Given the description of an element on the screen output the (x, y) to click on. 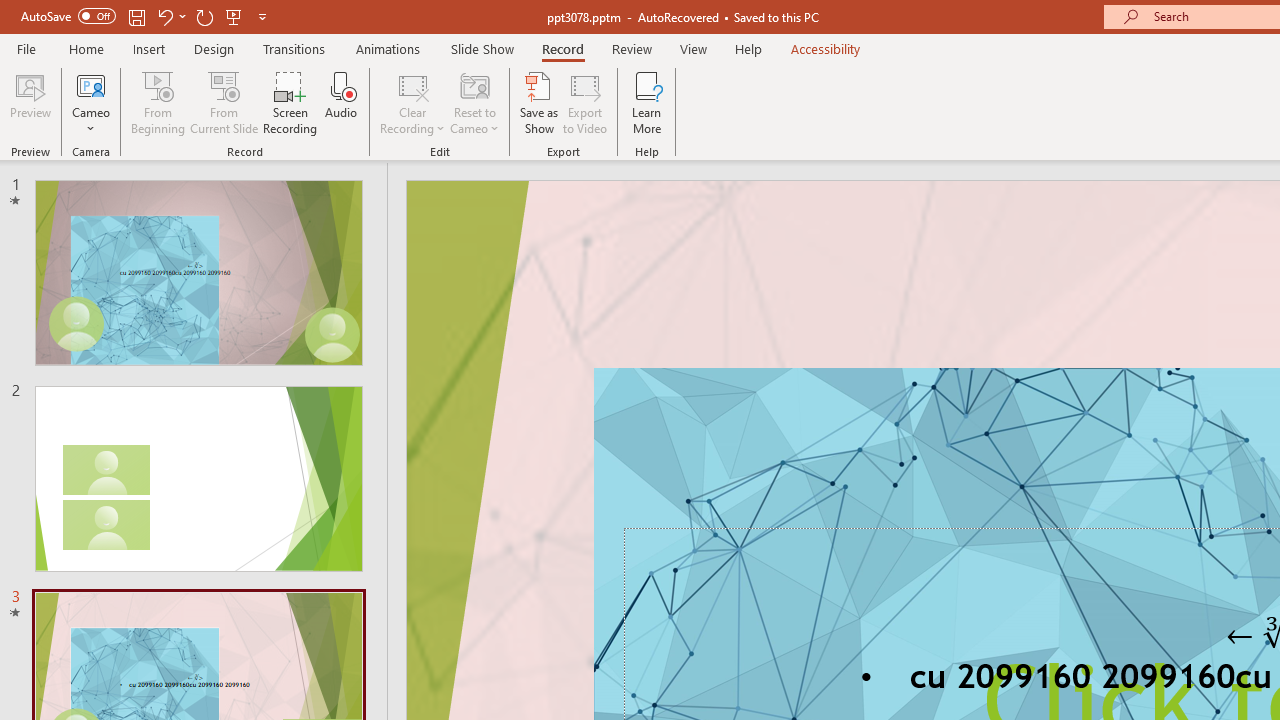
Slide (198, 478)
Insert (149, 48)
Undo (164, 15)
Transitions (294, 48)
Slide Show (481, 48)
Record (562, 48)
More Options (91, 121)
Reset to Cameo (474, 102)
Export to Video (585, 102)
Help (748, 48)
Customize Quick Access Toolbar (262, 15)
Design (214, 48)
Preview (30, 102)
System (10, 11)
Home (86, 48)
